Given the description of an element on the screen output the (x, y) to click on. 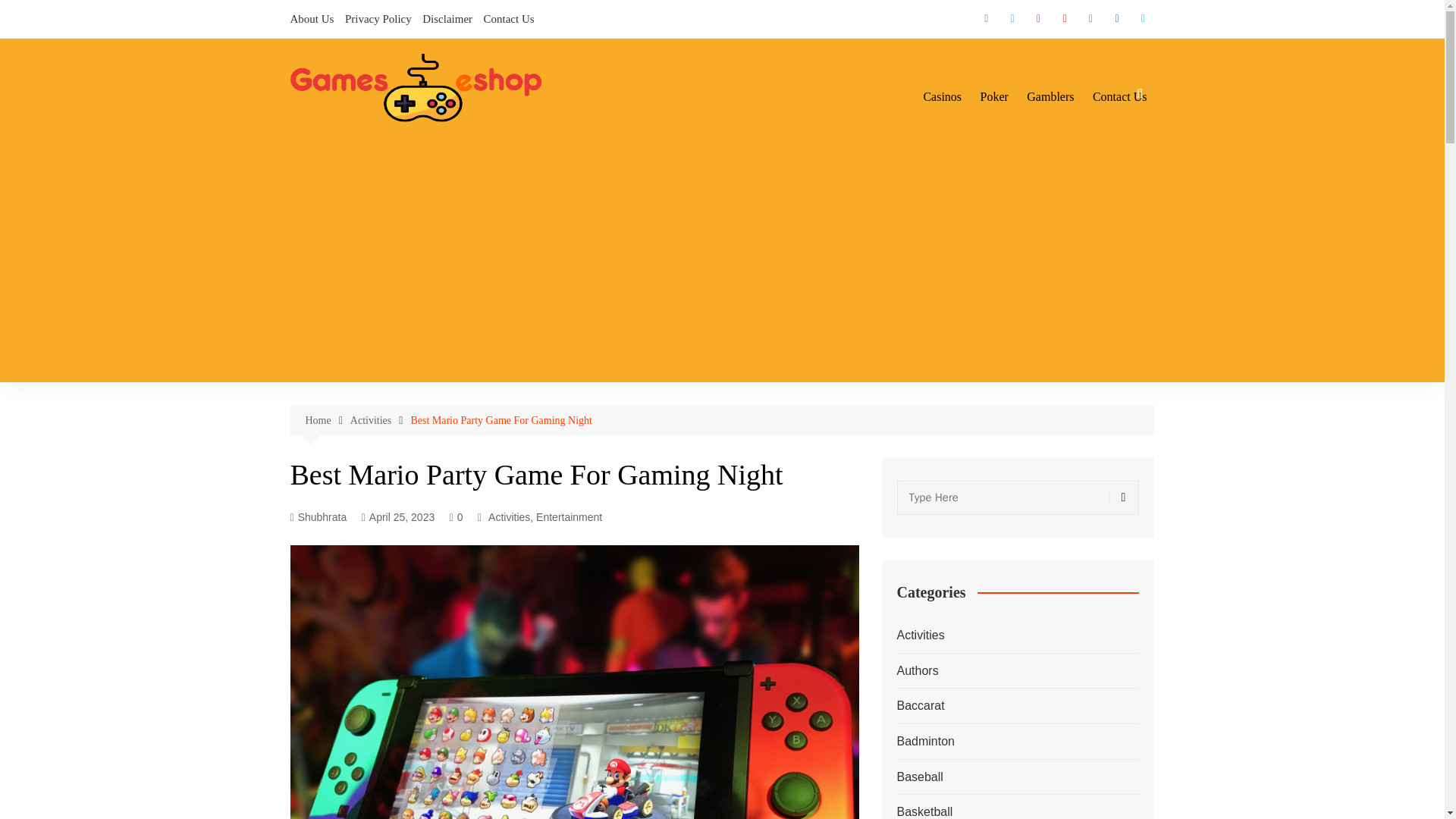
Youtube (1063, 18)
Vimeo (1142, 18)
Twitter (1012, 18)
Privacy Policy (378, 18)
Activities (508, 516)
About Us (311, 18)
Contact Us (1119, 96)
Poker (993, 96)
Instagram (1038, 18)
Casinos (942, 96)
Contact Us (508, 18)
Shubhrata (317, 517)
Home (326, 420)
Gamblers (1050, 96)
Disclaimer (446, 18)
